Given the description of an element on the screen output the (x, y) to click on. 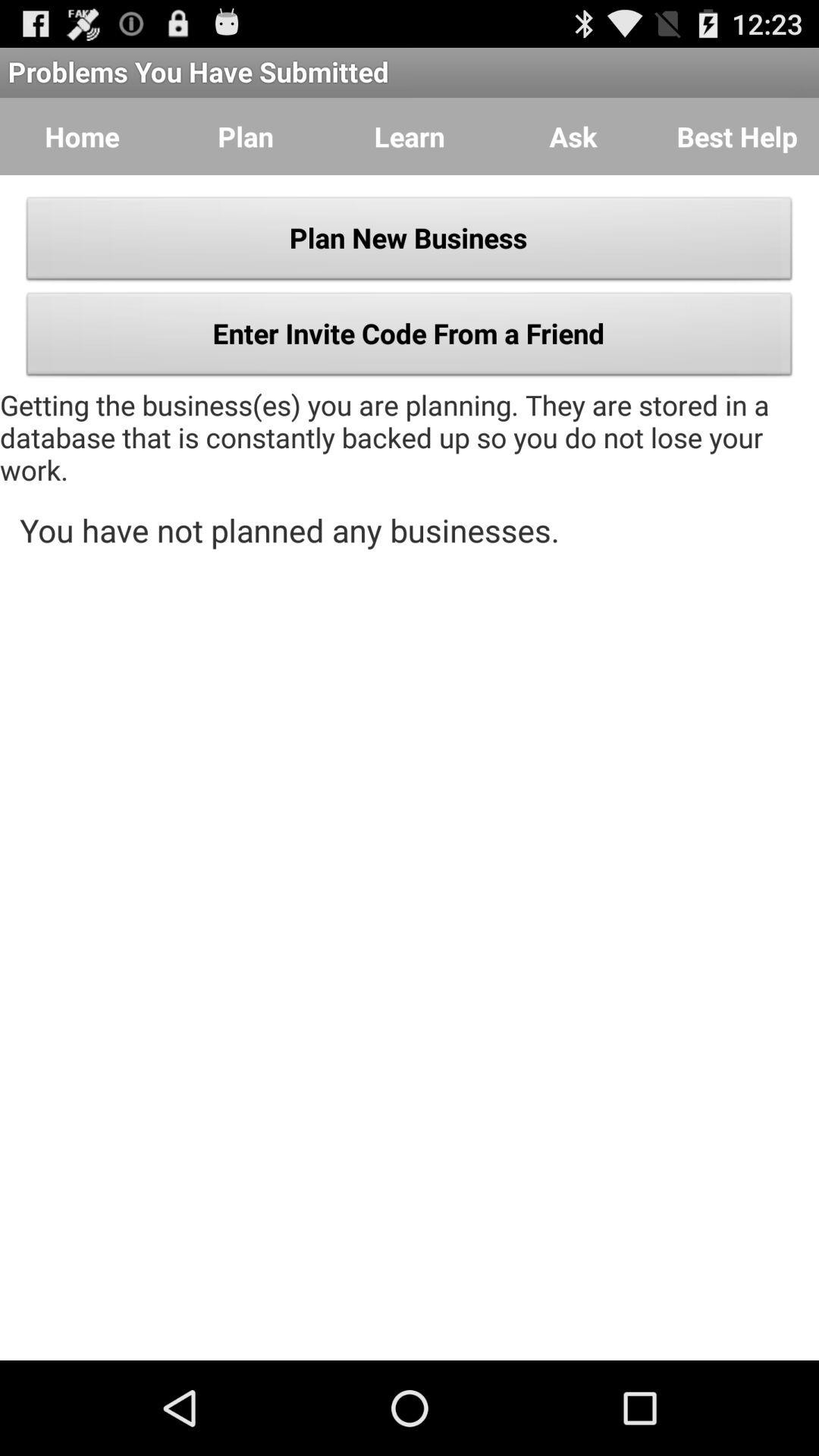
select the item below the problems you have item (737, 136)
